Given the description of an element on the screen output the (x, y) to click on. 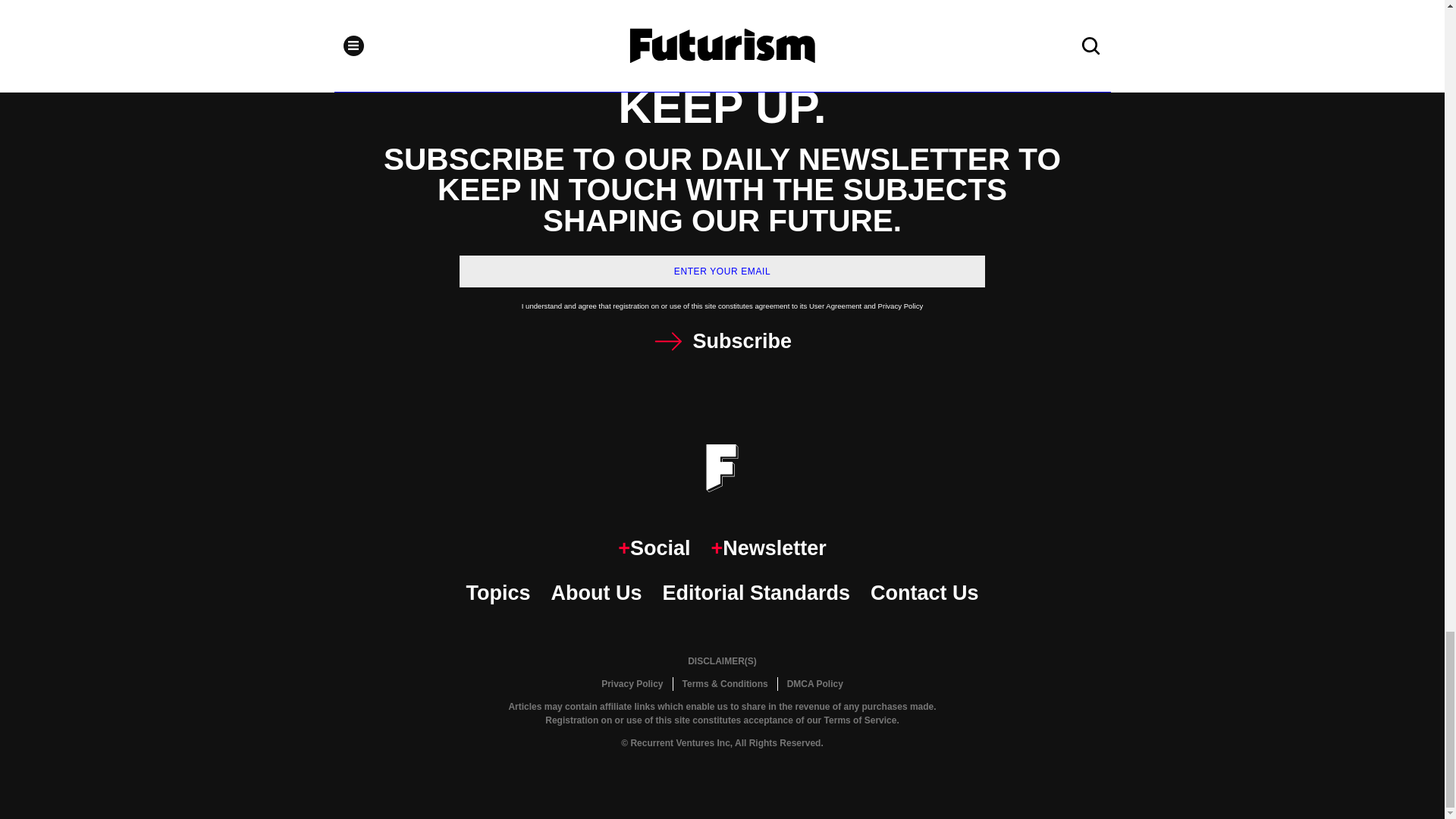
Privacy Policy (631, 684)
Contact Us (924, 593)
Topics (497, 593)
Subscribe (722, 341)
About Us (596, 593)
Editorial Standards (756, 593)
